Given the description of an element on the screen output the (x, y) to click on. 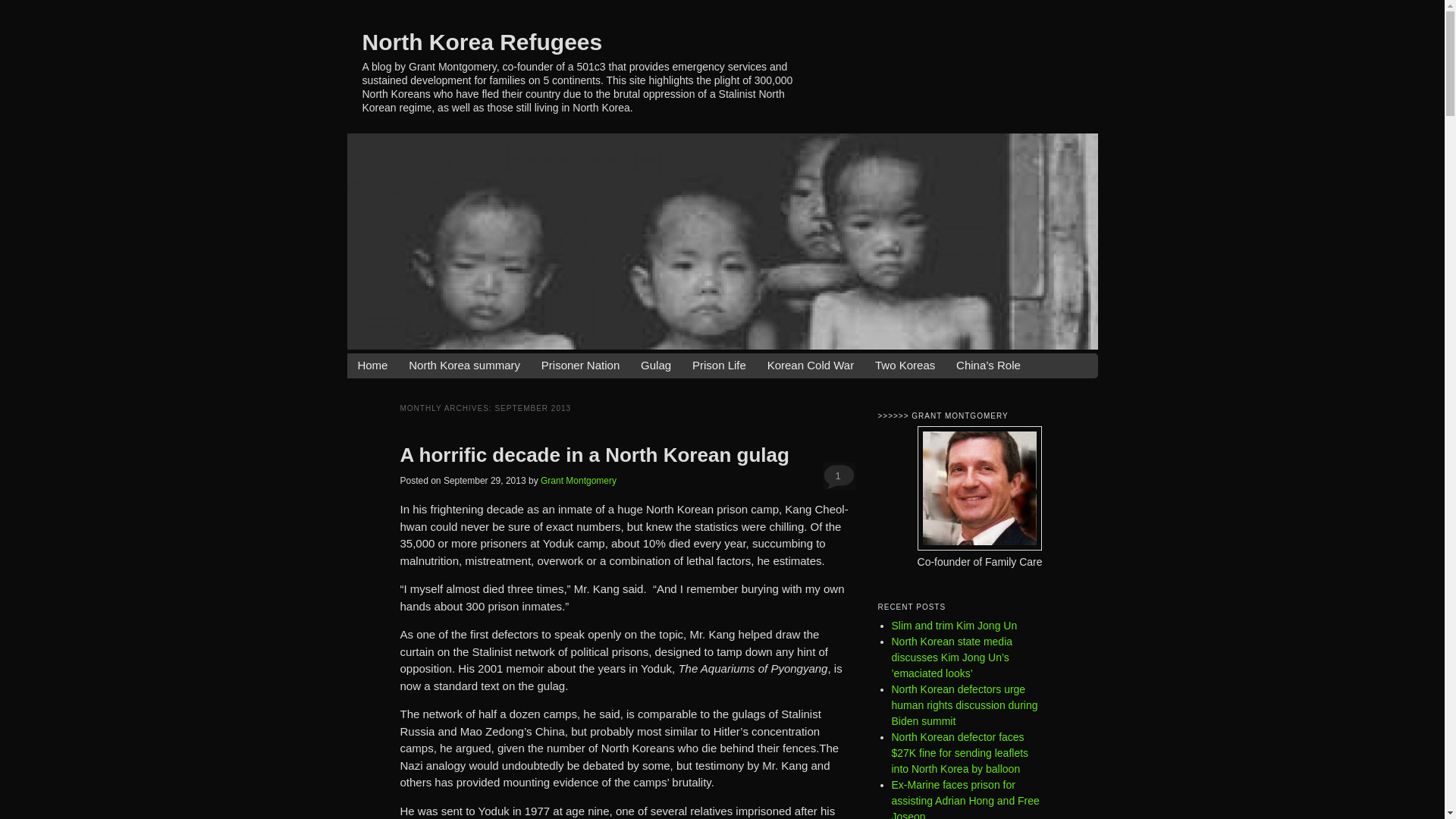
Gulag (655, 365)
Grant Montgomery (577, 480)
A horrific decade in a North Korean gulag (594, 454)
Home (371, 365)
North Korea Refugees (482, 41)
Korean Cold War (810, 365)
A horrific decade in a North Korean gulag (594, 454)
North Korea summary (464, 365)
Two Koreas (904, 365)
Prisoner Nation (580, 365)
